Given the description of an element on the screen output the (x, y) to click on. 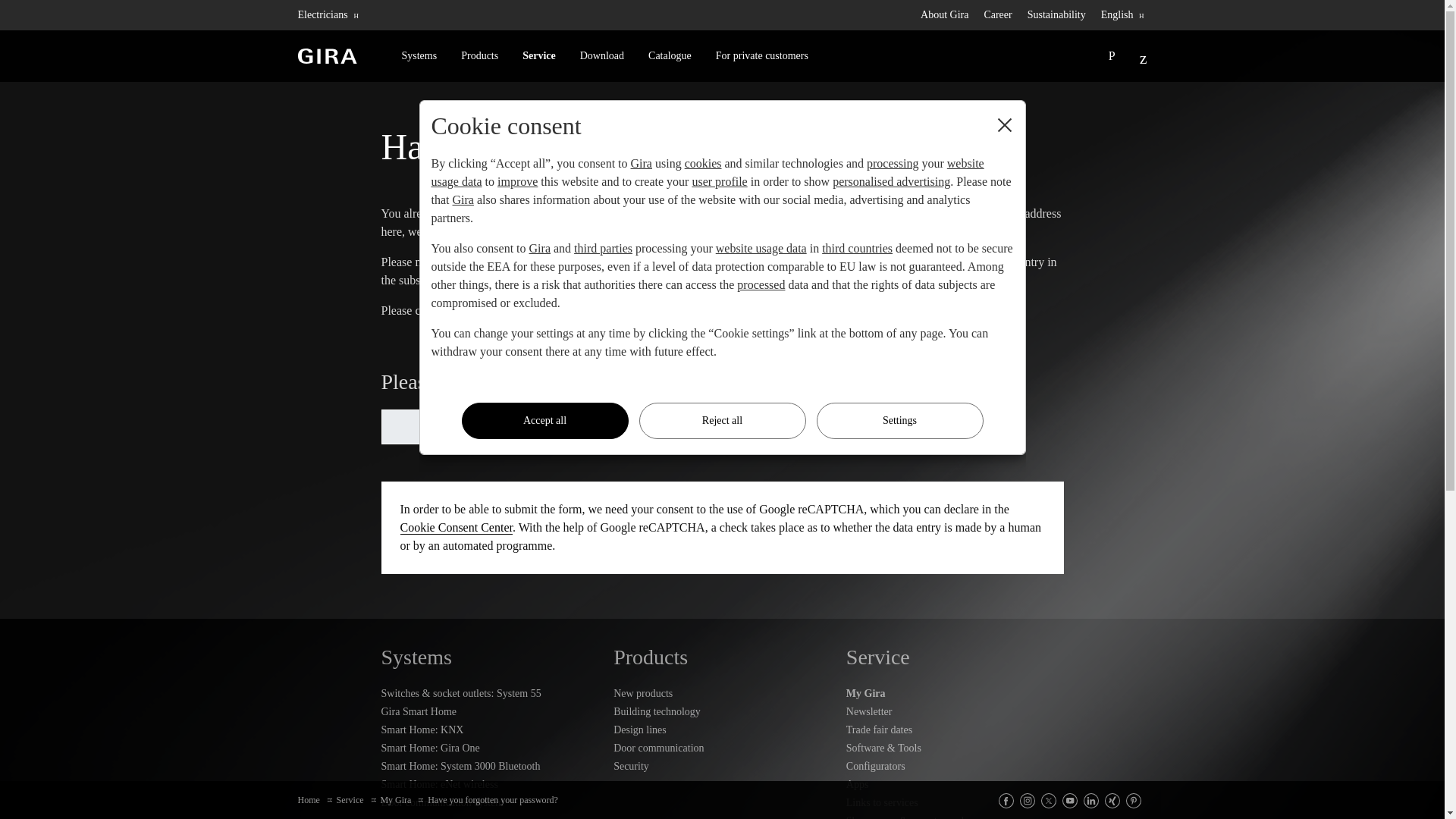
Configurators (954, 766)
Building technology (721, 711)
Security (721, 766)
Accept all (544, 420)
Smart Home: Gira One (489, 748)
Trade fair dates (954, 730)
Apps (954, 784)
Settings (898, 420)
Career (1005, 15)
Smart Home: System 3000 Bluetooth (489, 766)
About Gira (952, 15)
Smart Home: KNX (489, 730)
Electricians (334, 15)
Service (539, 55)
Gira Smart Home (489, 711)
